Given the description of an element on the screen output the (x, y) to click on. 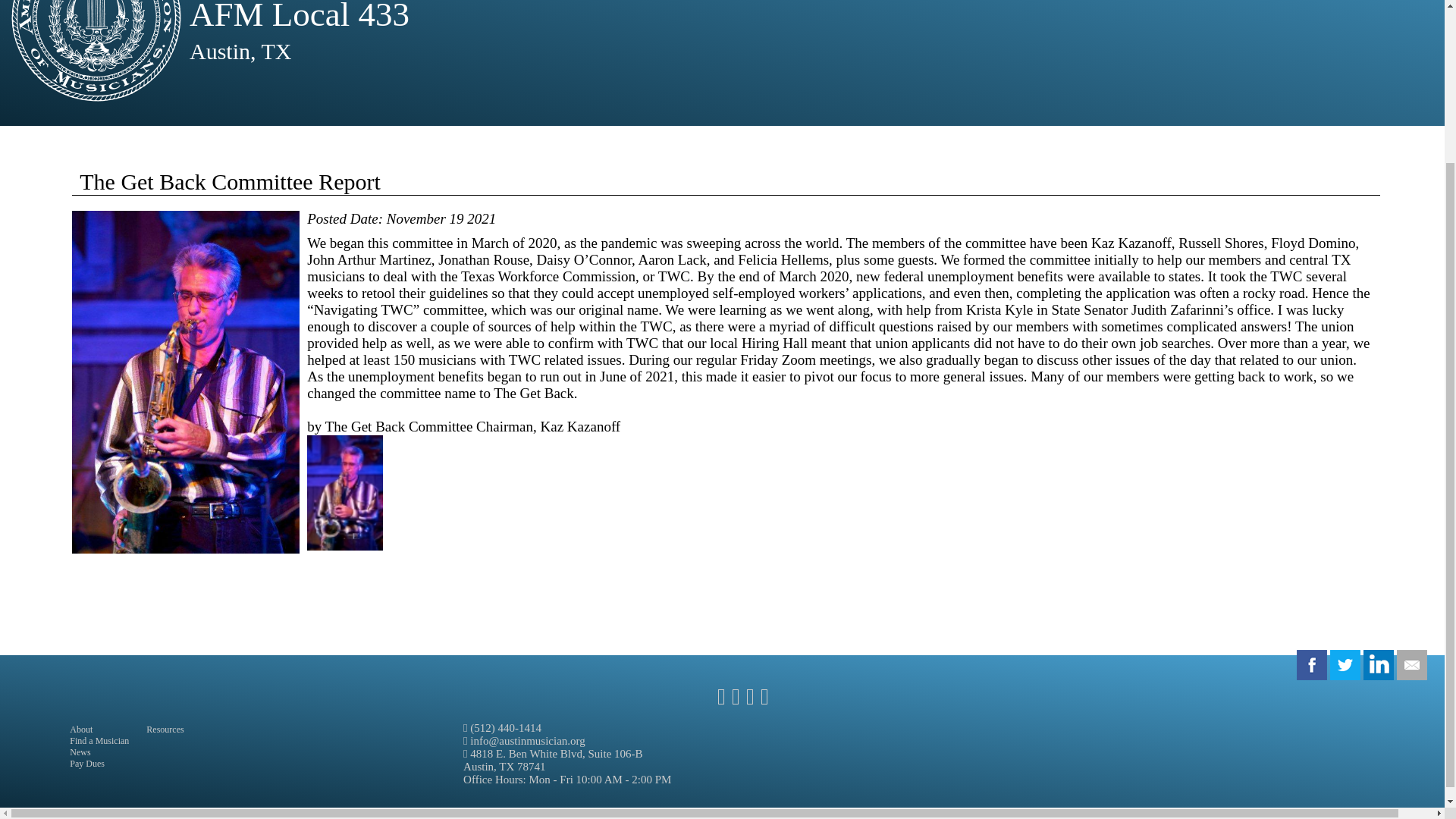
click to view facebook account (719, 701)
click to view twitter account (733, 701)
click to view instagram account (762, 701)
click to view youtube account (748, 701)
